Given the description of an element on the screen output the (x, y) to click on. 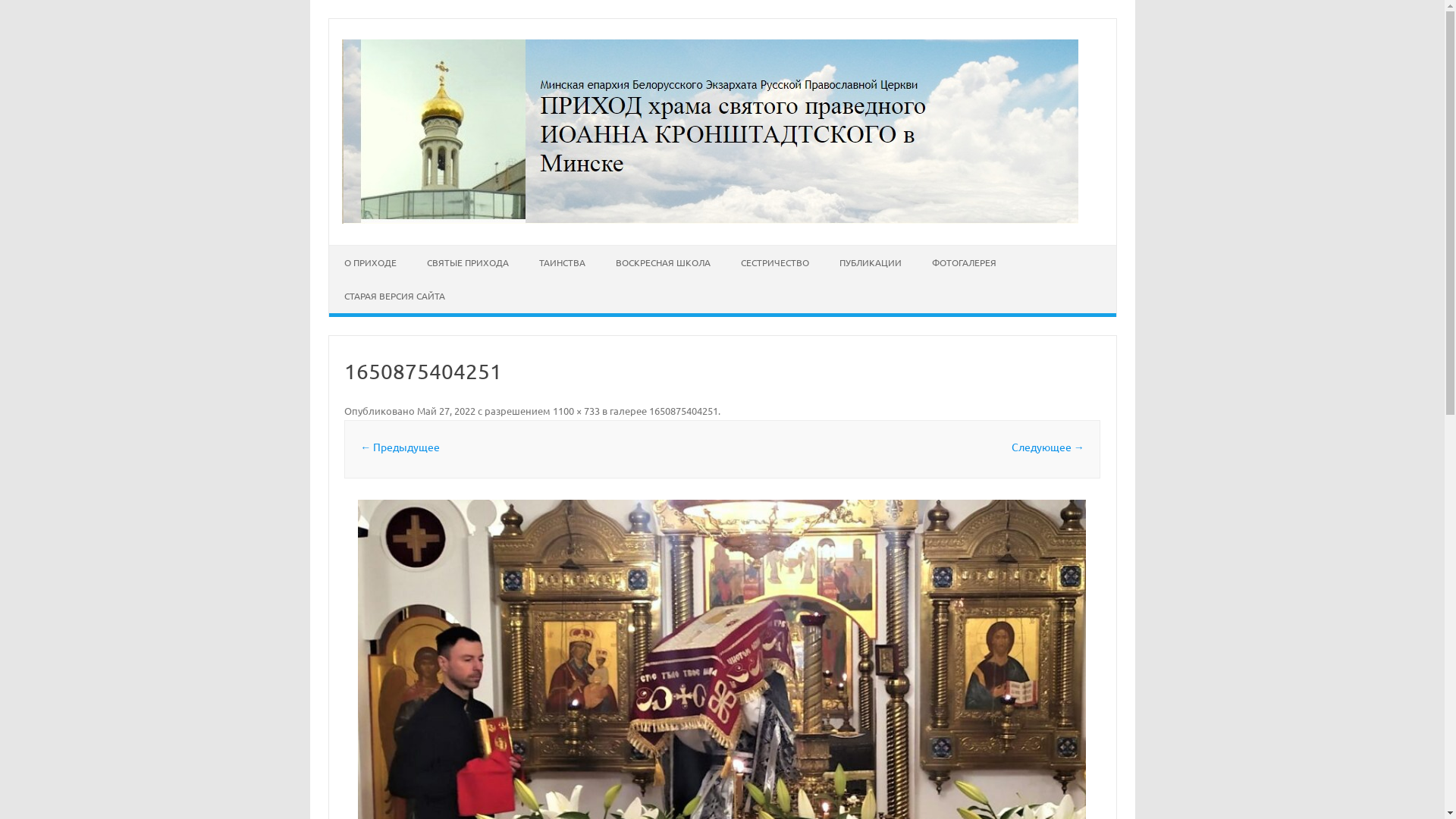
1650875404251 Element type: text (683, 410)
